Given the description of an element on the screen output the (x, y) to click on. 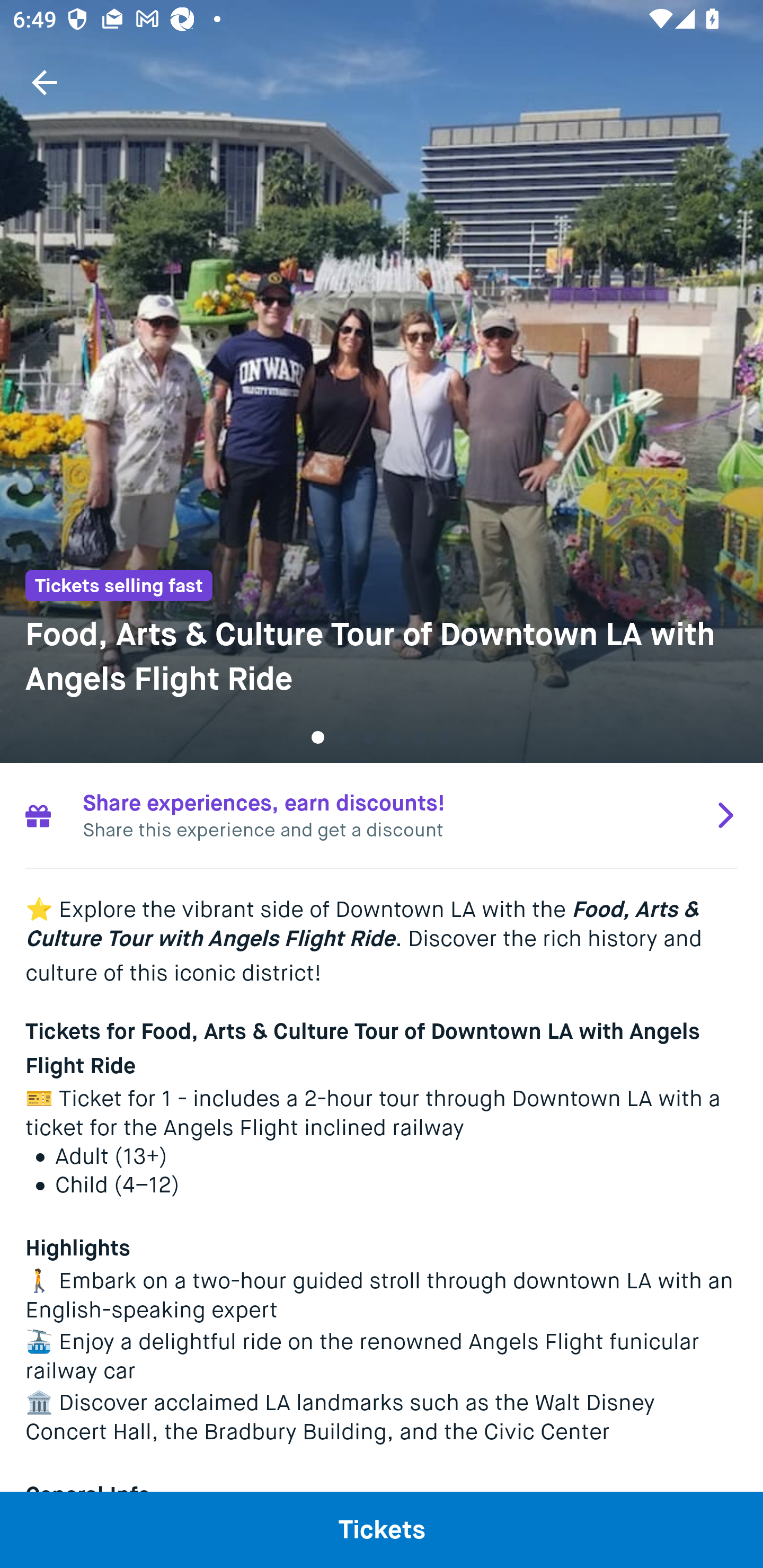
Navigate up (44, 82)
Tickets (381, 1529)
